Given the description of an element on the screen output the (x, y) to click on. 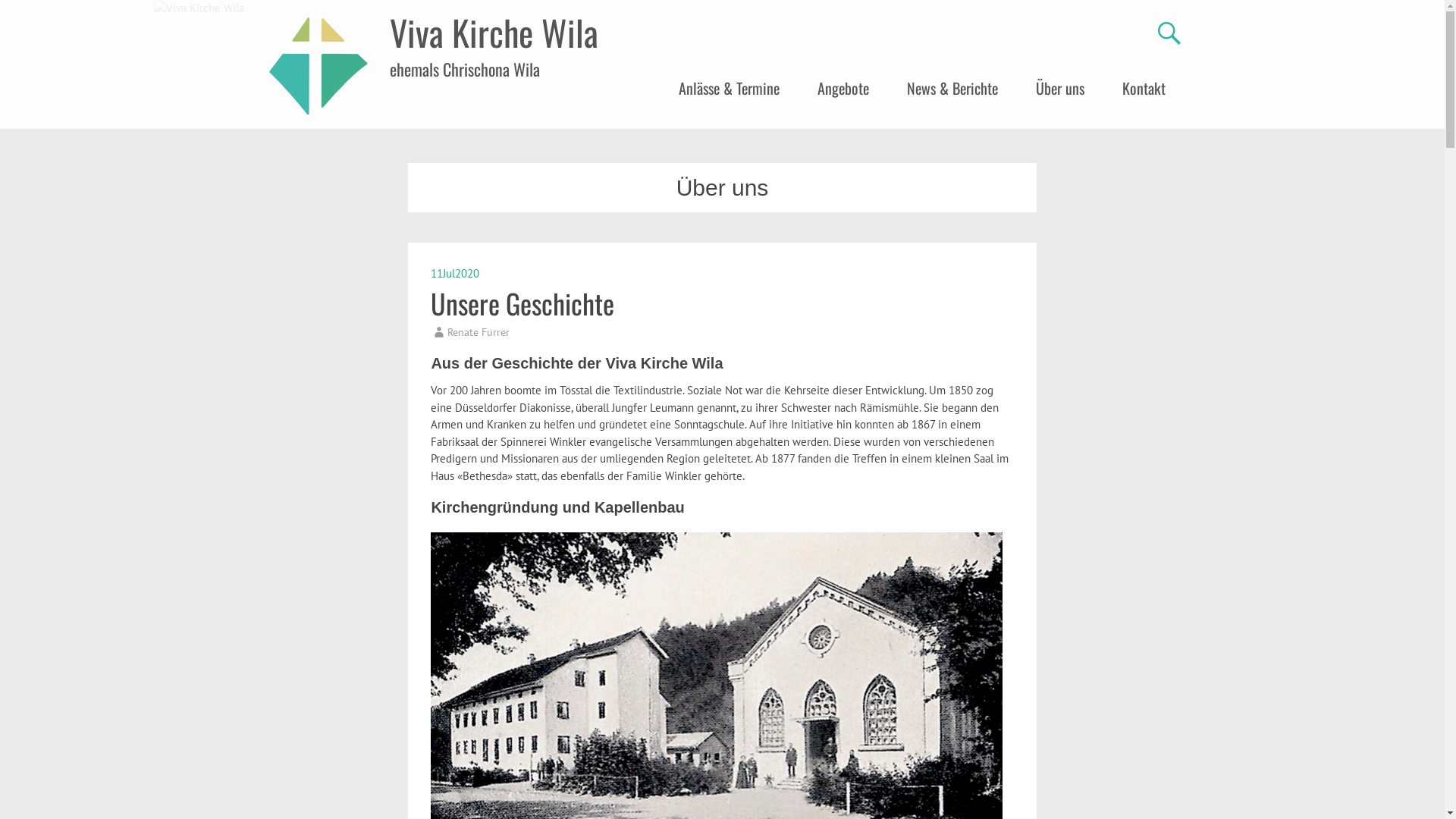
News & Berichte Element type: text (951, 87)
Kontakt Element type: text (1142, 87)
Viva Kirche Wila Element type: text (493, 31)
Angebote Element type: text (842, 87)
11Jul2020 Element type: text (454, 273)
Renate Furrer Element type: text (478, 331)
Unsere Geschichte Element type: text (522, 302)
